Given the description of an element on the screen output the (x, y) to click on. 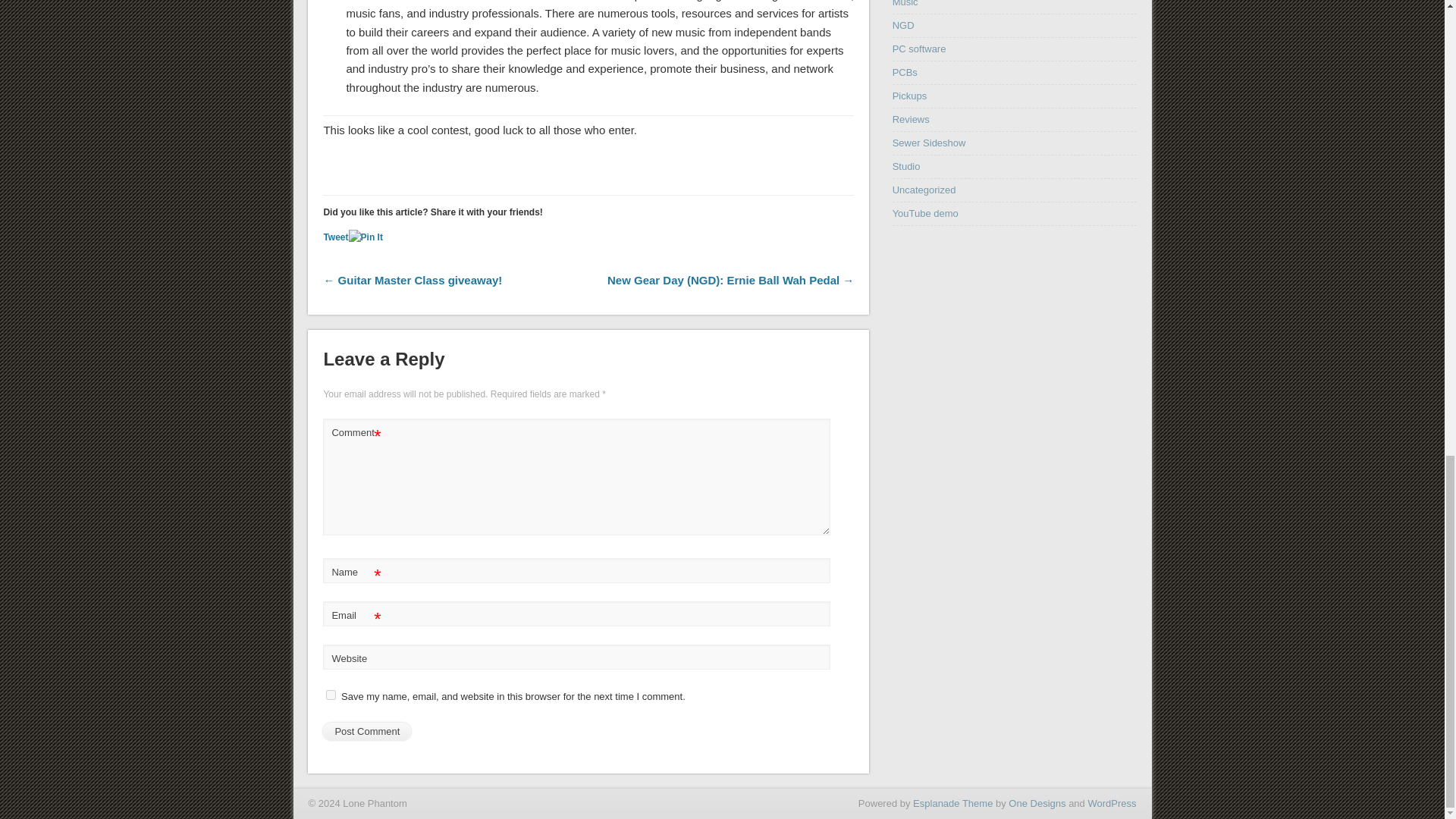
yes (331, 695)
WordPress (1111, 803)
One Designs (1037, 803)
Pin It (365, 237)
Post Comment (366, 731)
Esplanade Theme (952, 803)
Post Comment (366, 731)
Tweet (335, 236)
